Given the description of an element on the screen output the (x, y) to click on. 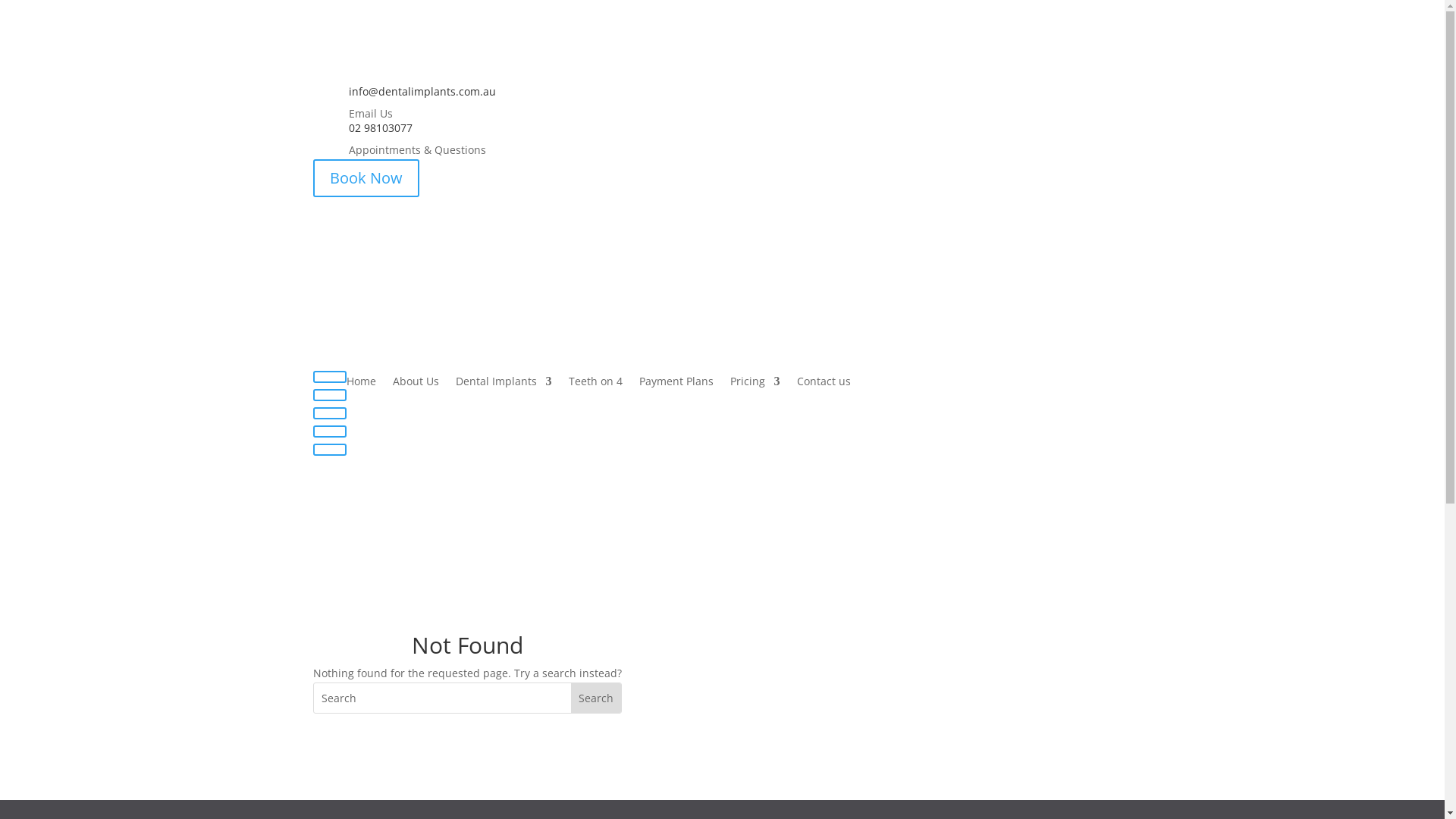
Home Element type: text (360, 384)
Contact us Element type: text (823, 384)
02 98103077 Element type: text (380, 127)
Payment Plans Element type: text (675, 384)
Pricing Element type: text (754, 384)
About Us Element type: text (415, 384)
info@dentalimplants.com.au Element type: text (421, 91)
Dental Implants Element type: text (503, 384)
Book Now Element type: text (365, 178)
Search Element type: text (595, 697)
Teeth on 4 Element type: text (595, 384)
